Given the description of an element on the screen output the (x, y) to click on. 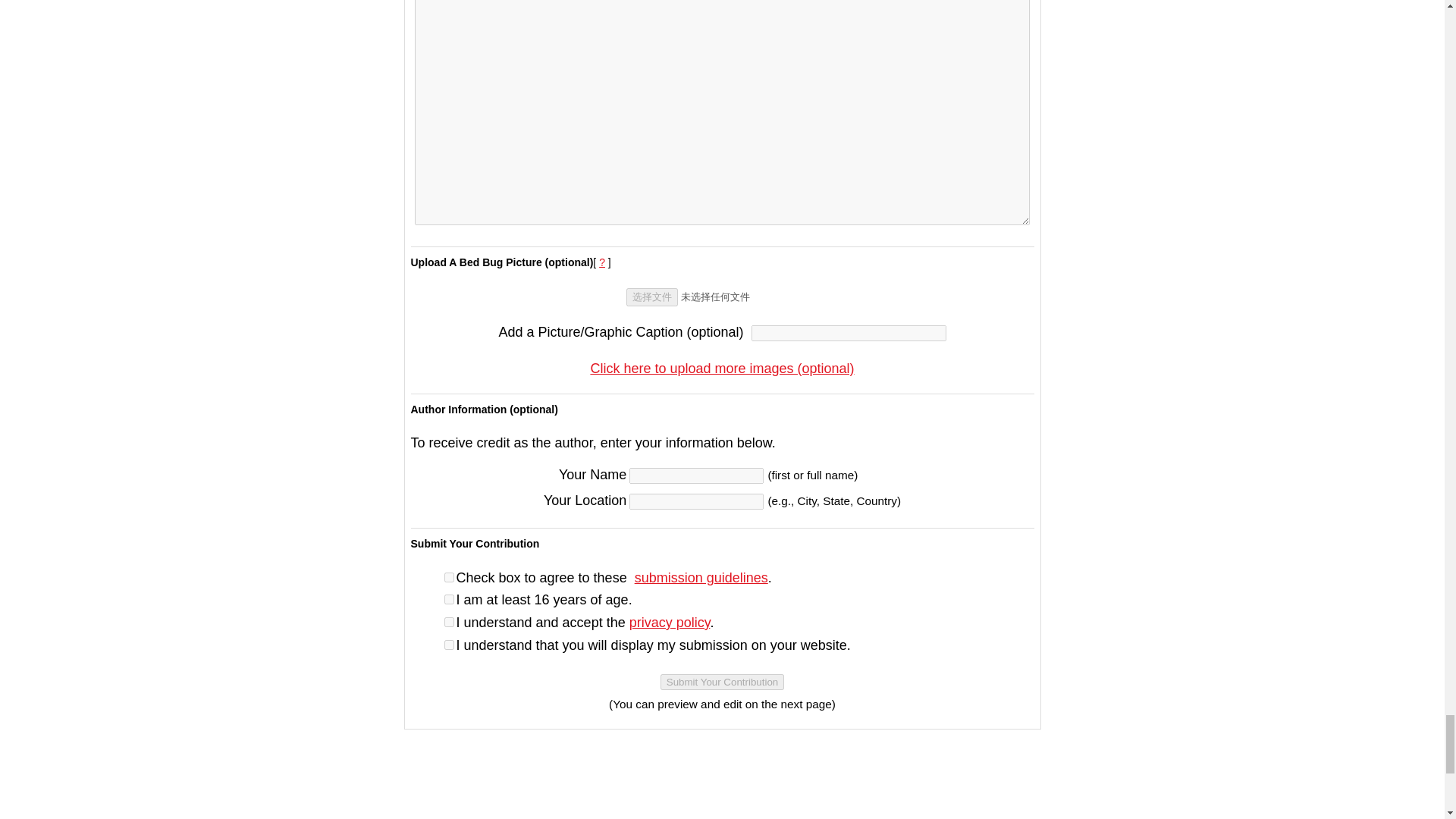
1 (449, 644)
1 (449, 599)
Submit Your Contribution (722, 682)
1 (449, 622)
checkbox (449, 577)
